Given the description of an element on the screen output the (x, y) to click on. 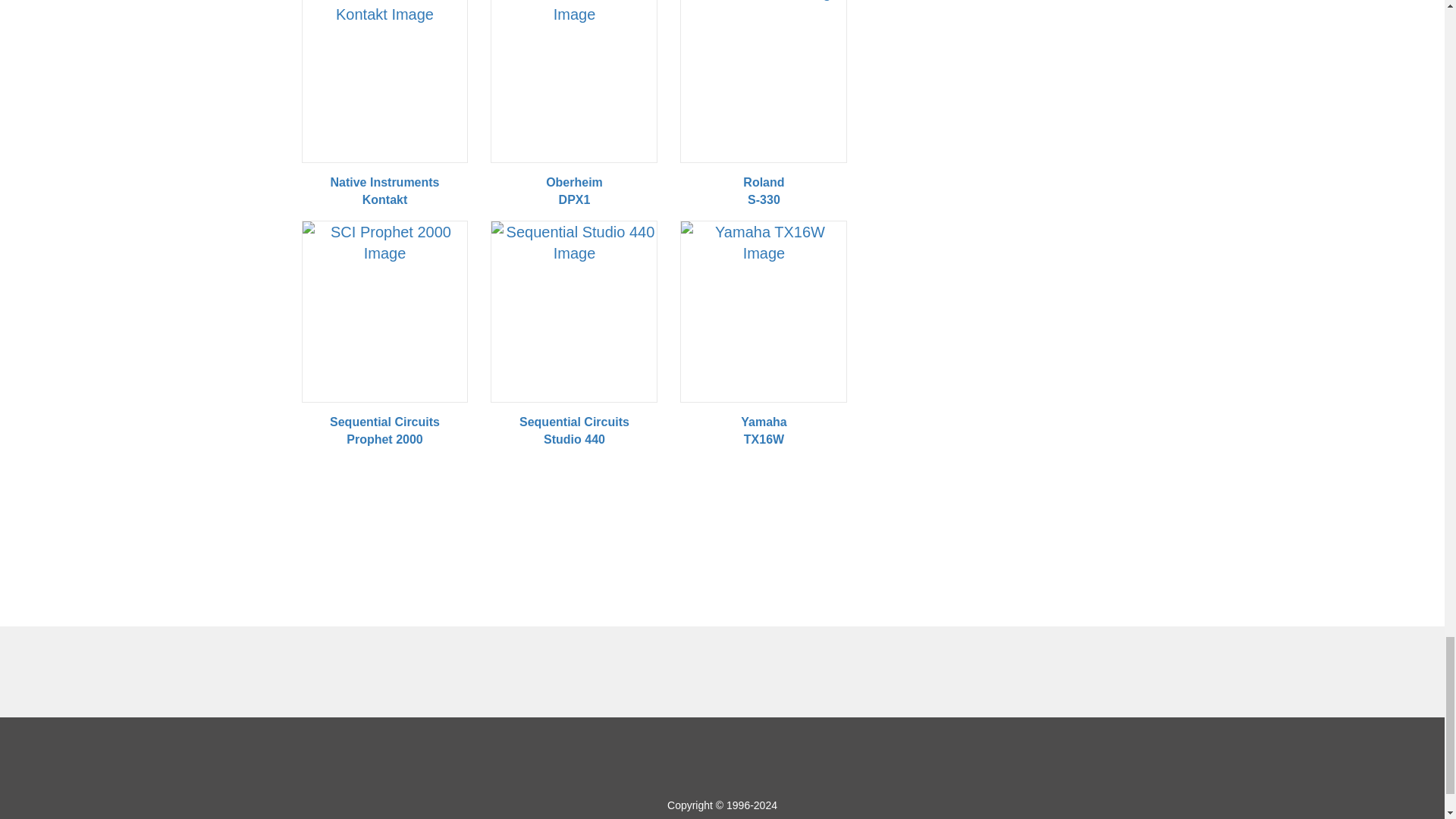
Follow us on Twitter (739, 756)
Subscribe to our News Feed (774, 756)
Like us on Facebook (670, 756)
